Given the description of an element on the screen output the (x, y) to click on. 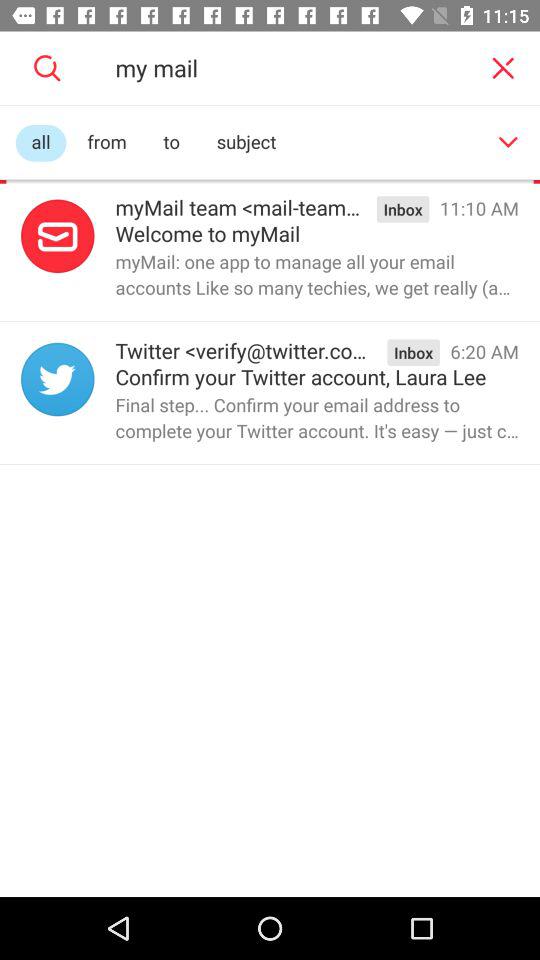
choose the item to the right of to (246, 142)
